Given the description of an element on the screen output the (x, y) to click on. 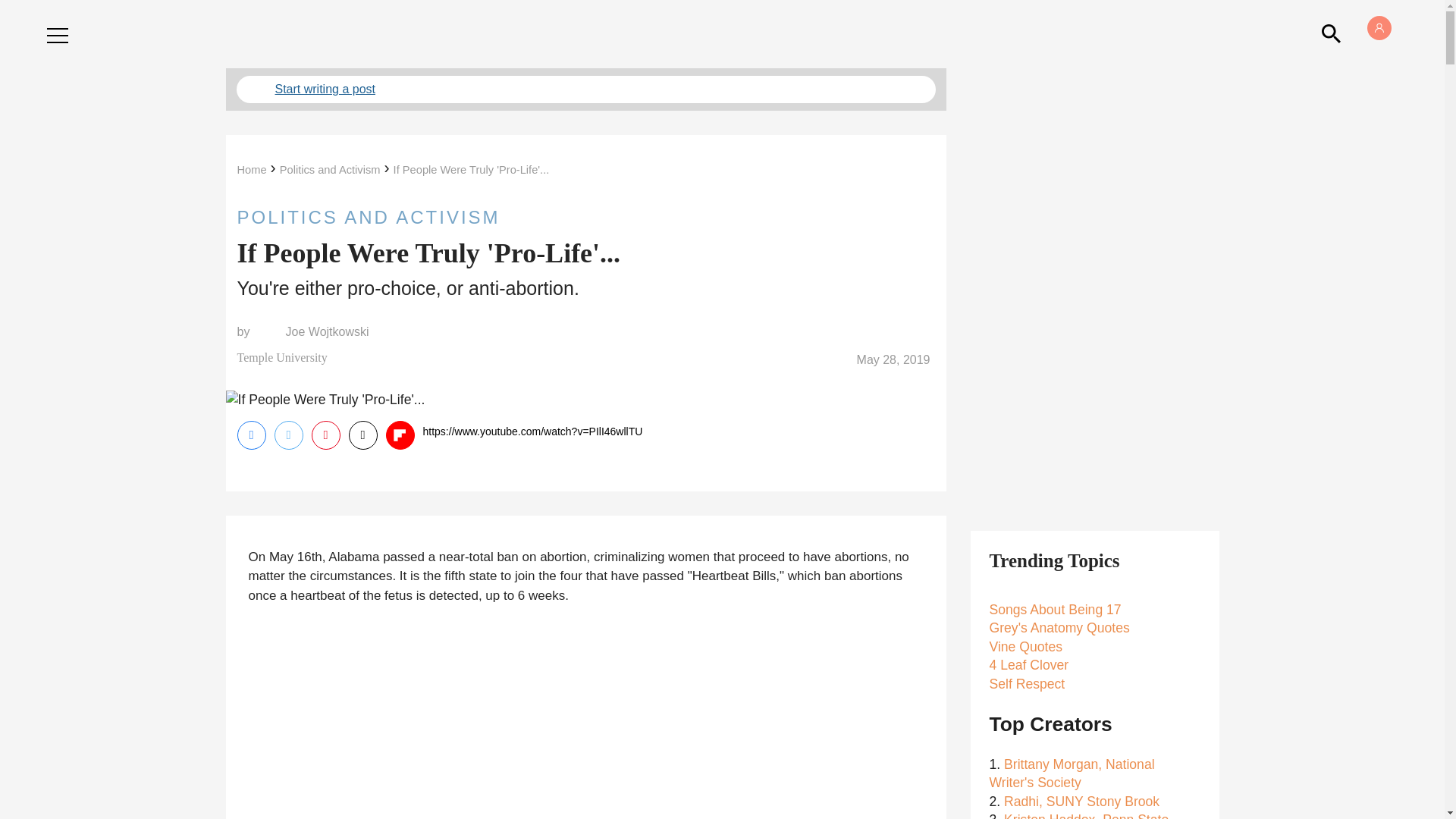
Politics and Activism (329, 169)
Home (250, 169)
If People Were Truly 'Pro-Life'... (471, 169)
Start writing a post (585, 89)
Joe Wojtkowski (327, 332)
POLITICS AND ACTIVISM (584, 217)
